Given the description of an element on the screen output the (x, y) to click on. 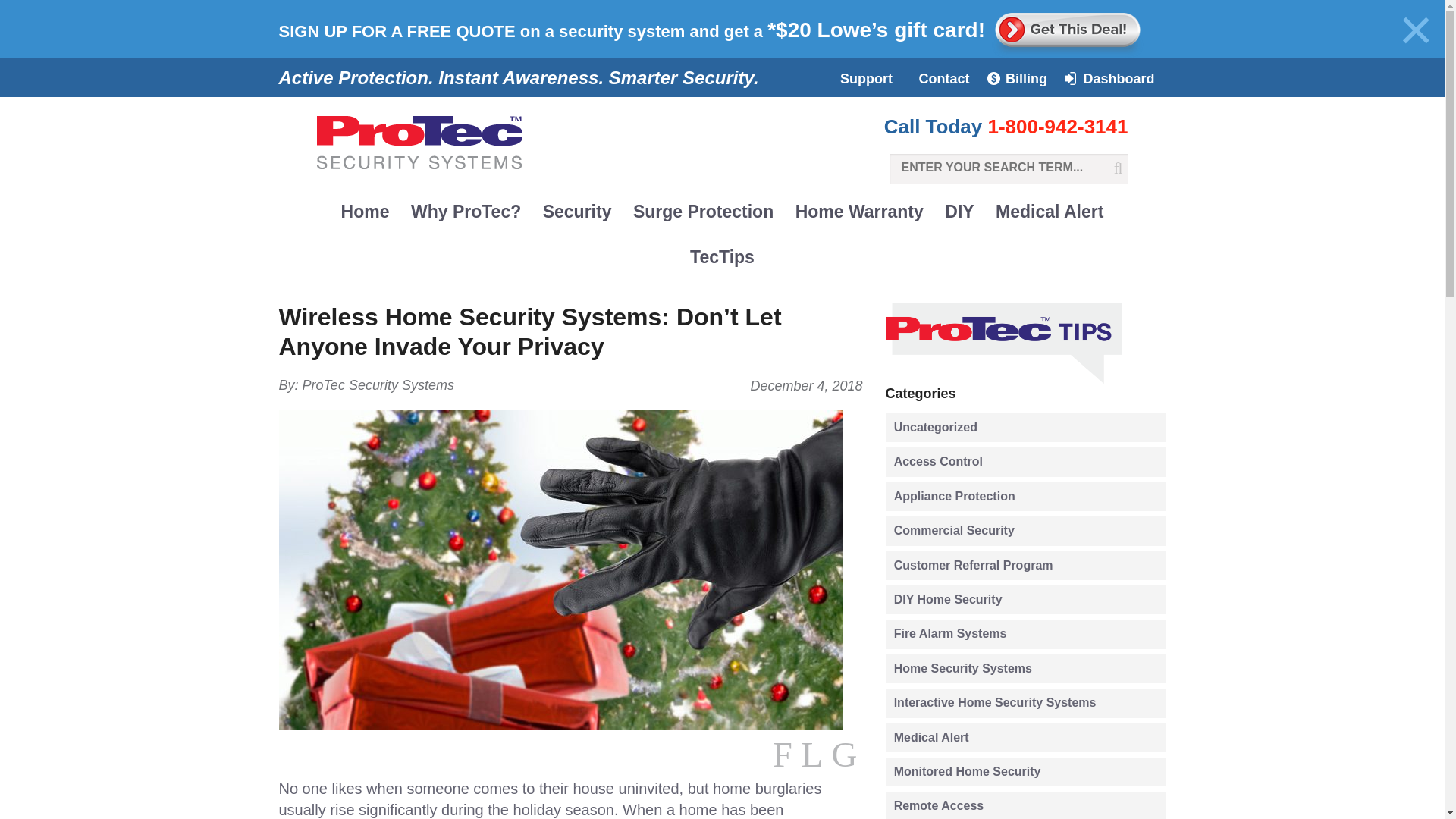
Surge Protection (703, 211)
ProTec Security Systems (378, 385)
Contact (944, 81)
DIY (959, 211)
TecTips (721, 257)
Dashboard (1113, 81)
1-800-942-3141 (1056, 126)
Medical Alert (1049, 211)
Monitored Commercial Security (929, 250)
Home Warranty (859, 211)
